Given the description of an element on the screen output the (x, y) to click on. 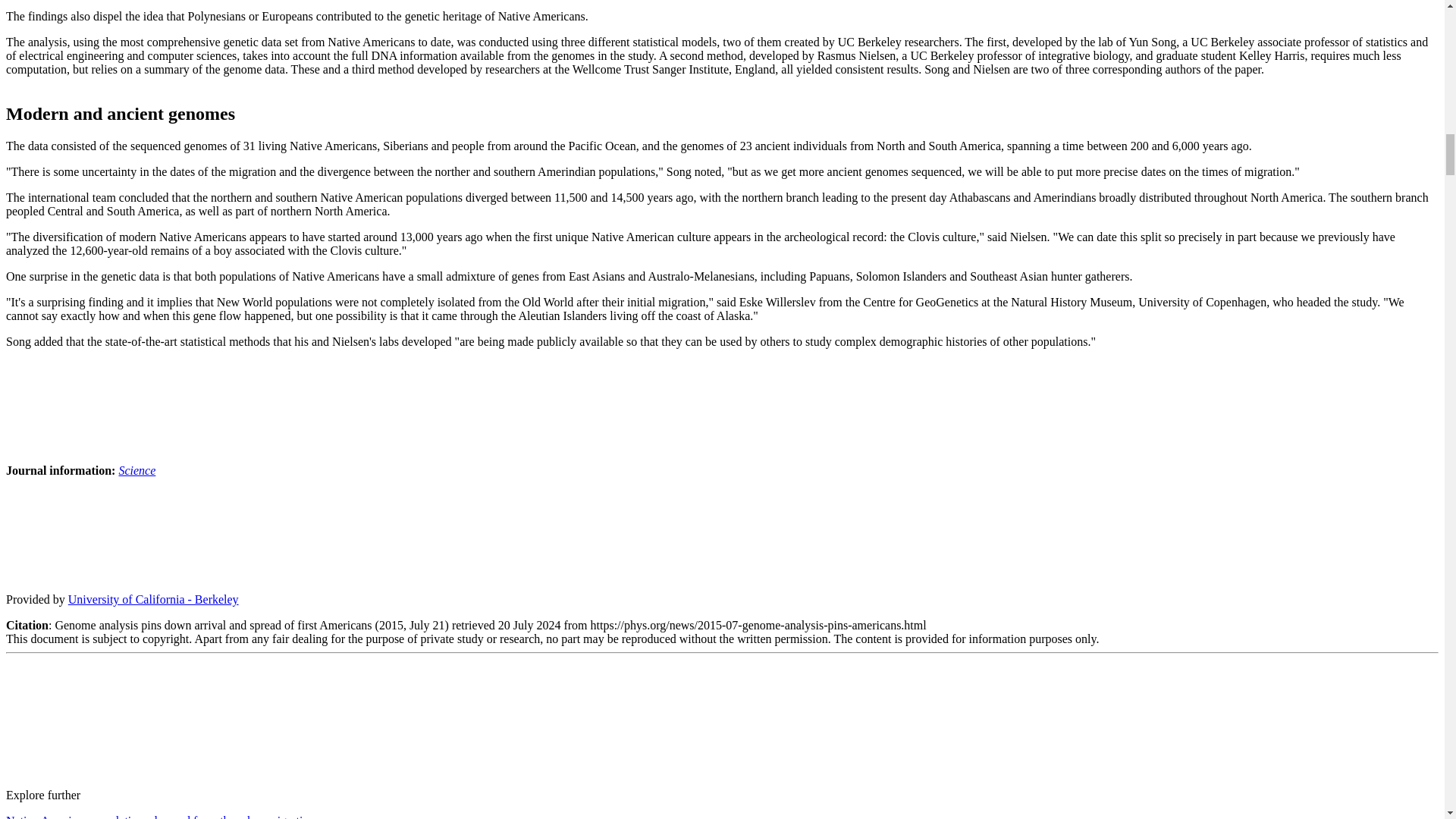
University of California - Berkeley (153, 599)
Science (136, 470)
